Given the description of an element on the screen output the (x, y) to click on. 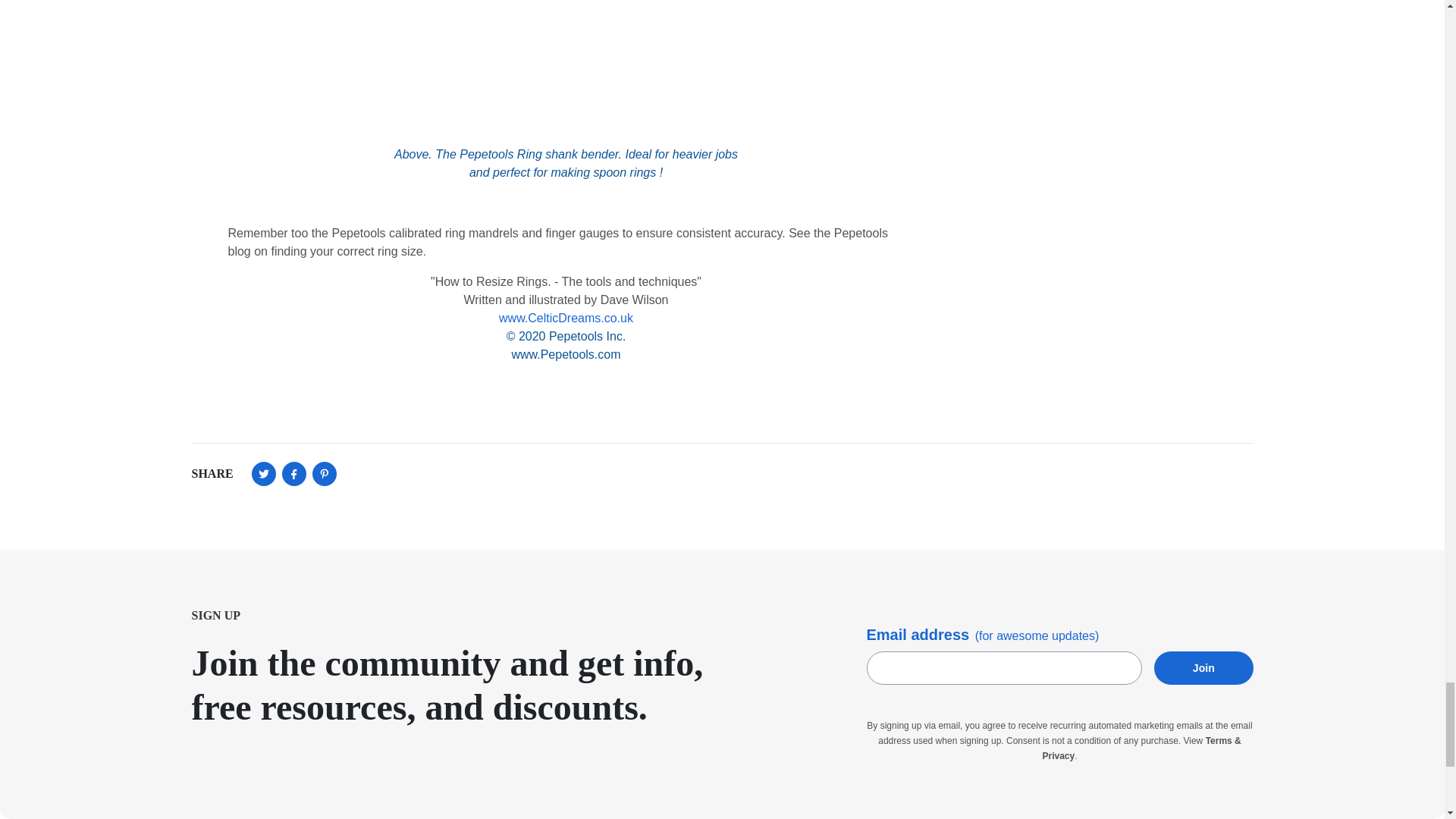
Heavy Duty ring shank bender (565, 63)
